Given the description of an element on the screen output the (x, y) to click on. 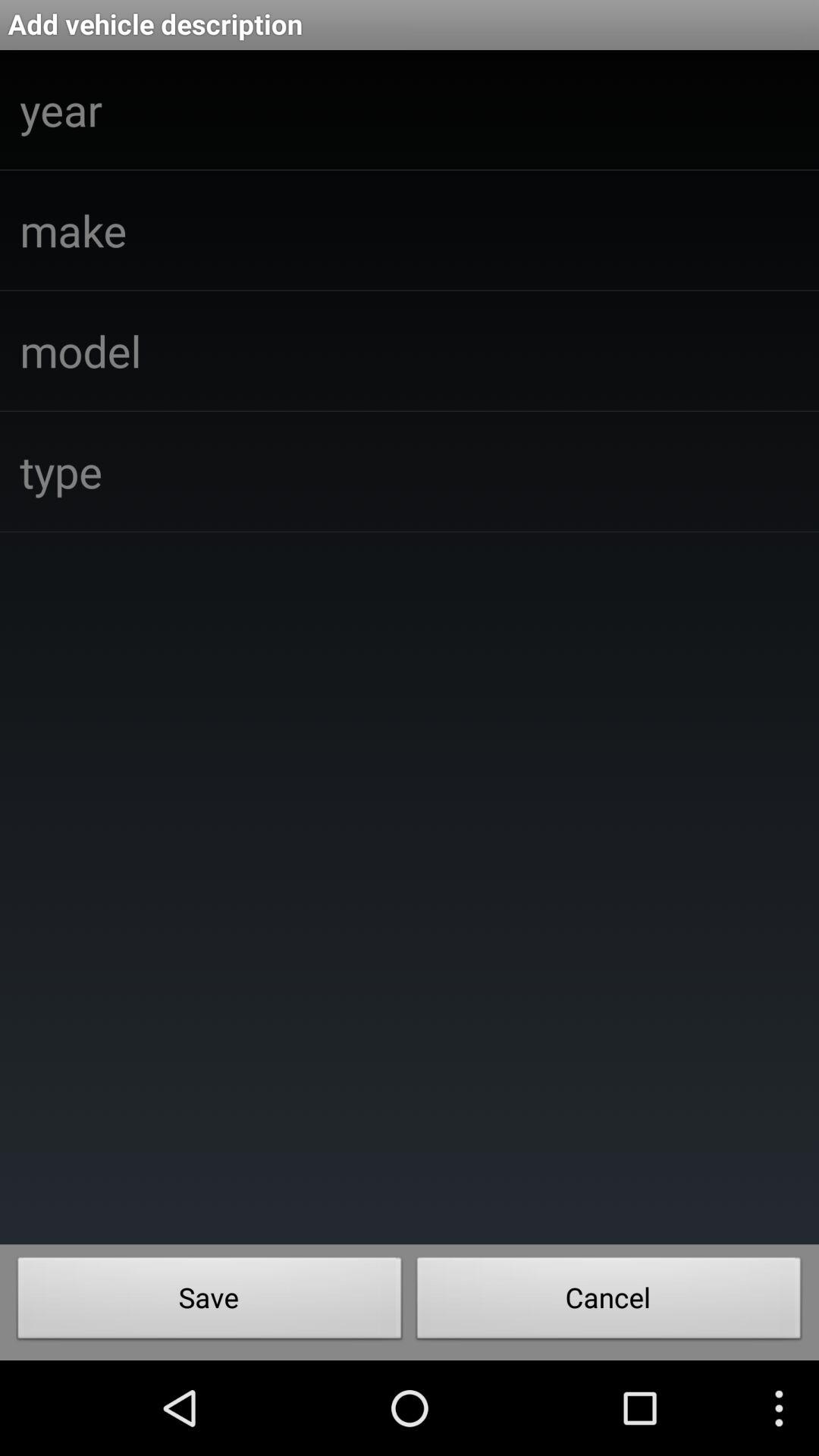
tap cancel button (608, 1302)
